Given the description of an element on the screen output the (x, y) to click on. 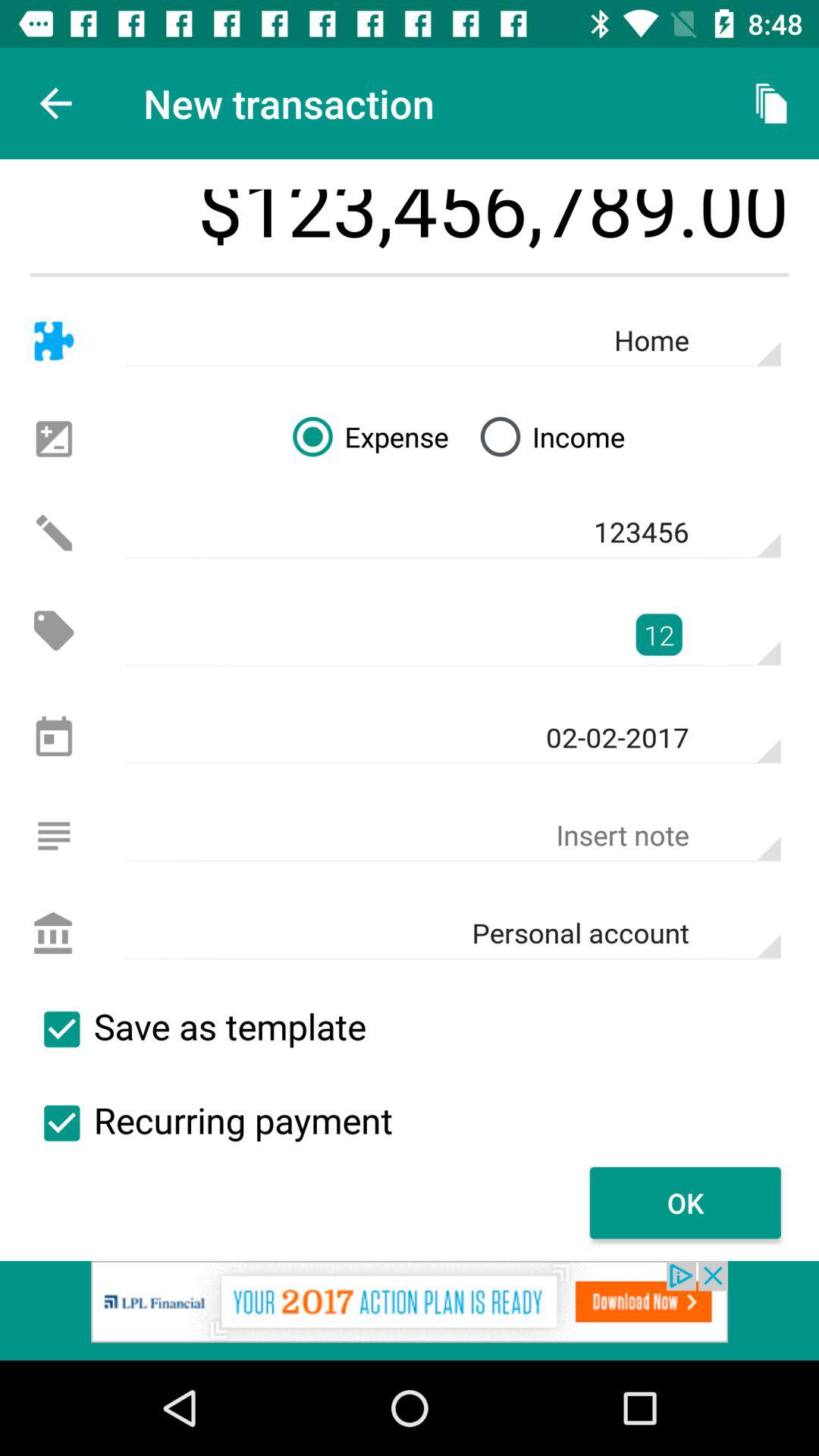
save this template (61, 1029)
